Given the description of an element on the screen output the (x, y) to click on. 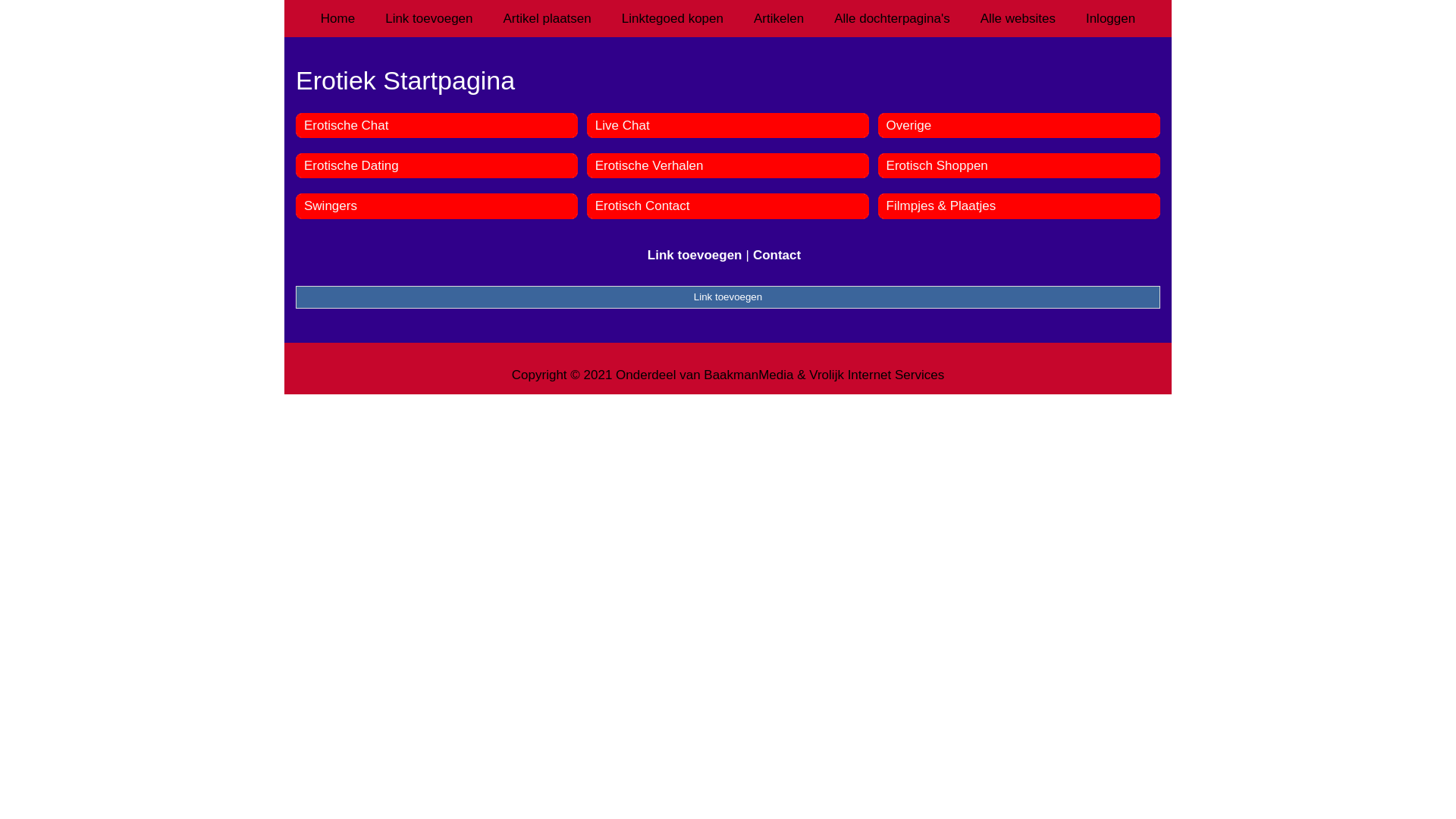
Alle websites Element type: text (1017, 18)
Inloggen Element type: text (1110, 18)
Linktegoed kopen Element type: text (672, 18)
Home Element type: text (337, 18)
Artikel plaatsen Element type: text (547, 18)
Erotisch Contact Element type: text (642, 205)
Erotiek Startpagina Element type: text (727, 80)
Erotische Dating Element type: text (351, 165)
Link toevoegen Element type: text (428, 18)
BaakmanMedia Element type: text (748, 374)
Erotisch Shoppen Element type: text (937, 165)
Erotische Verhalen Element type: text (649, 165)
Erotische Chat Element type: text (346, 125)
Alle dochterpagina's Element type: text (892, 18)
Overige Element type: text (908, 125)
Vrolijk Internet Services Element type: text (876, 374)
Swingers Element type: text (330, 205)
Contact Element type: text (776, 254)
Link toevoegen Element type: text (727, 296)
Artikelen Element type: text (778, 18)
Live Chat Element type: text (622, 125)
Link toevoegen Element type: text (694, 254)
Filmpjes & Plaatjes Element type: text (941, 205)
